Given the description of an element on the screen output the (x, y) to click on. 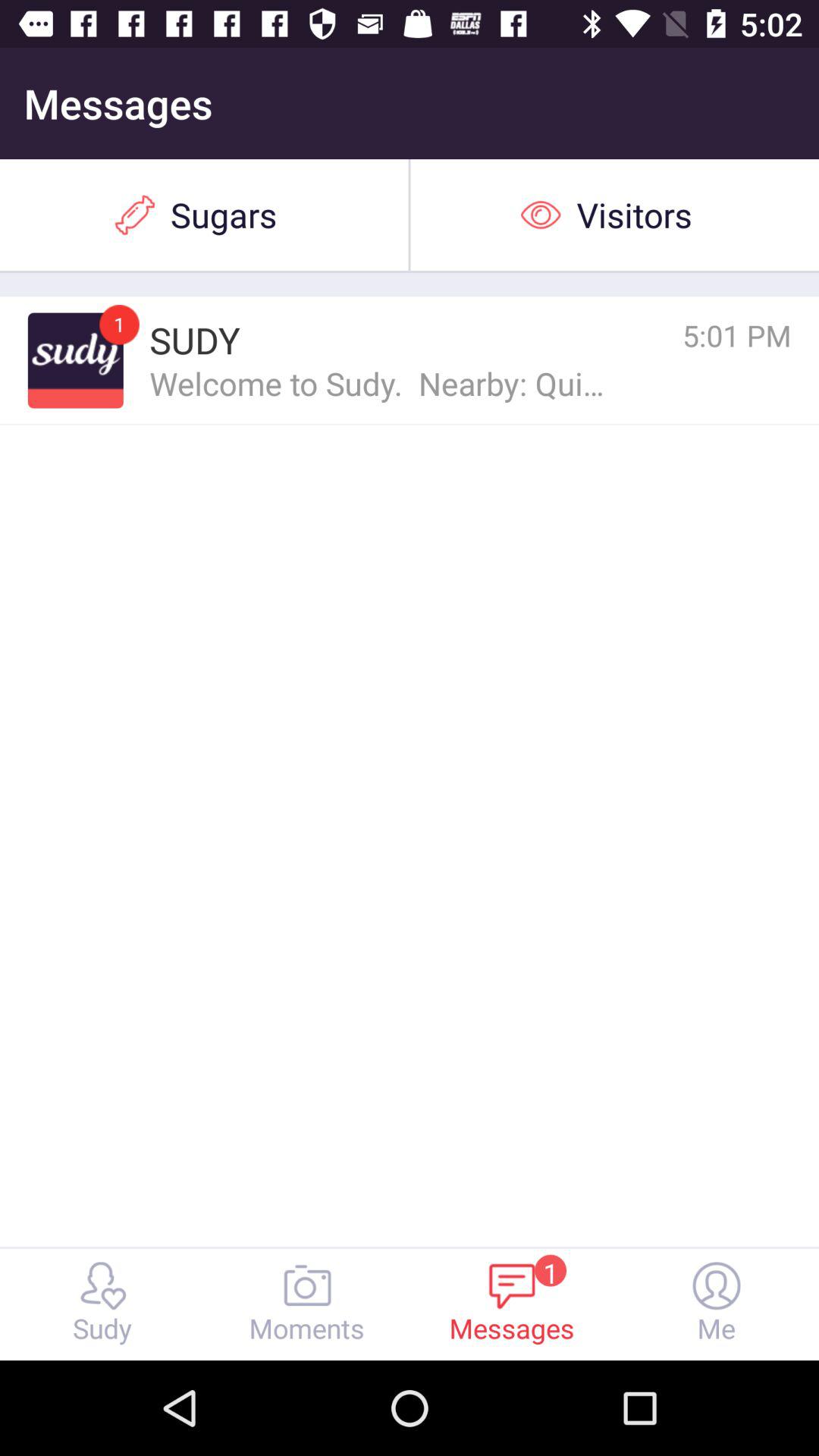
jump until the welcome to sudy item (379, 381)
